Given the description of an element on the screen output the (x, y) to click on. 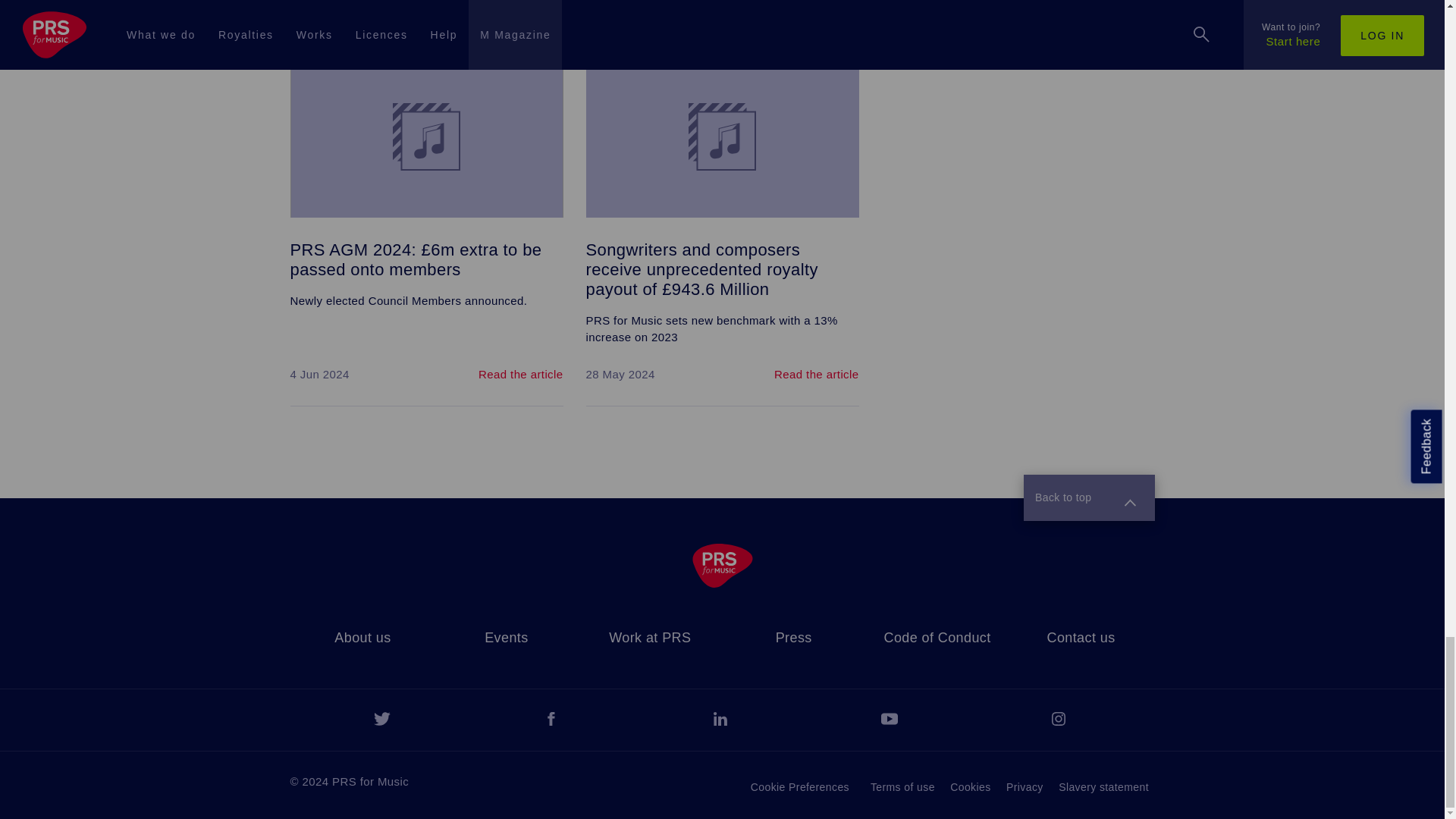
Back to top (1088, 497)
Back to News (810, 22)
